Given the description of an element on the screen output the (x, y) to click on. 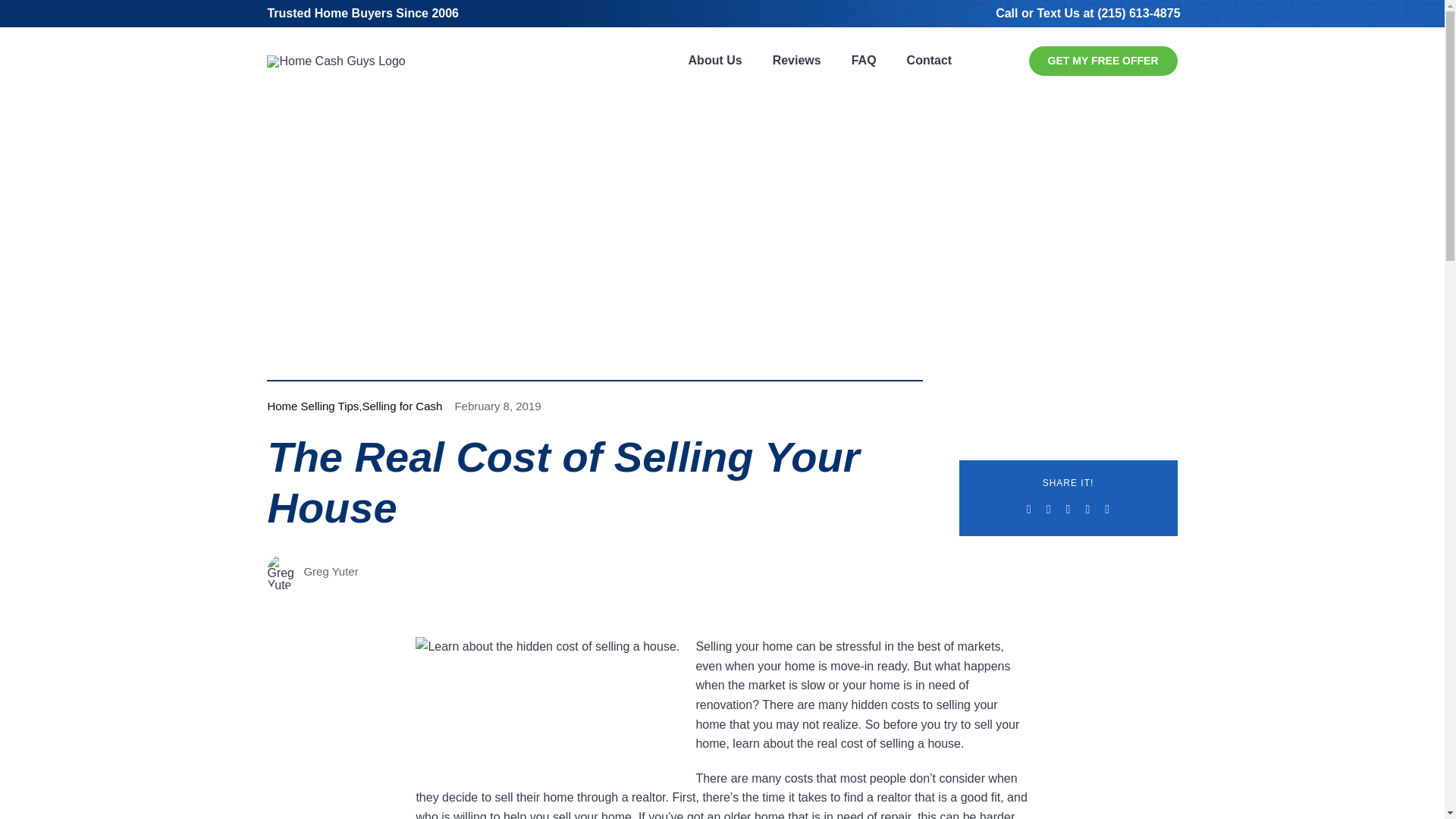
Home Selling Tips (312, 405)
Contact (929, 61)
Selling for Cash (402, 405)
GET MY FREE OFFER (1103, 60)
About Us (715, 61)
FAQ (864, 61)
Pinterest (1106, 509)
Reviews (795, 61)
Selling for Cash (402, 405)
Facebook (1029, 509)
